Given the description of an element on the screen output the (x, y) to click on. 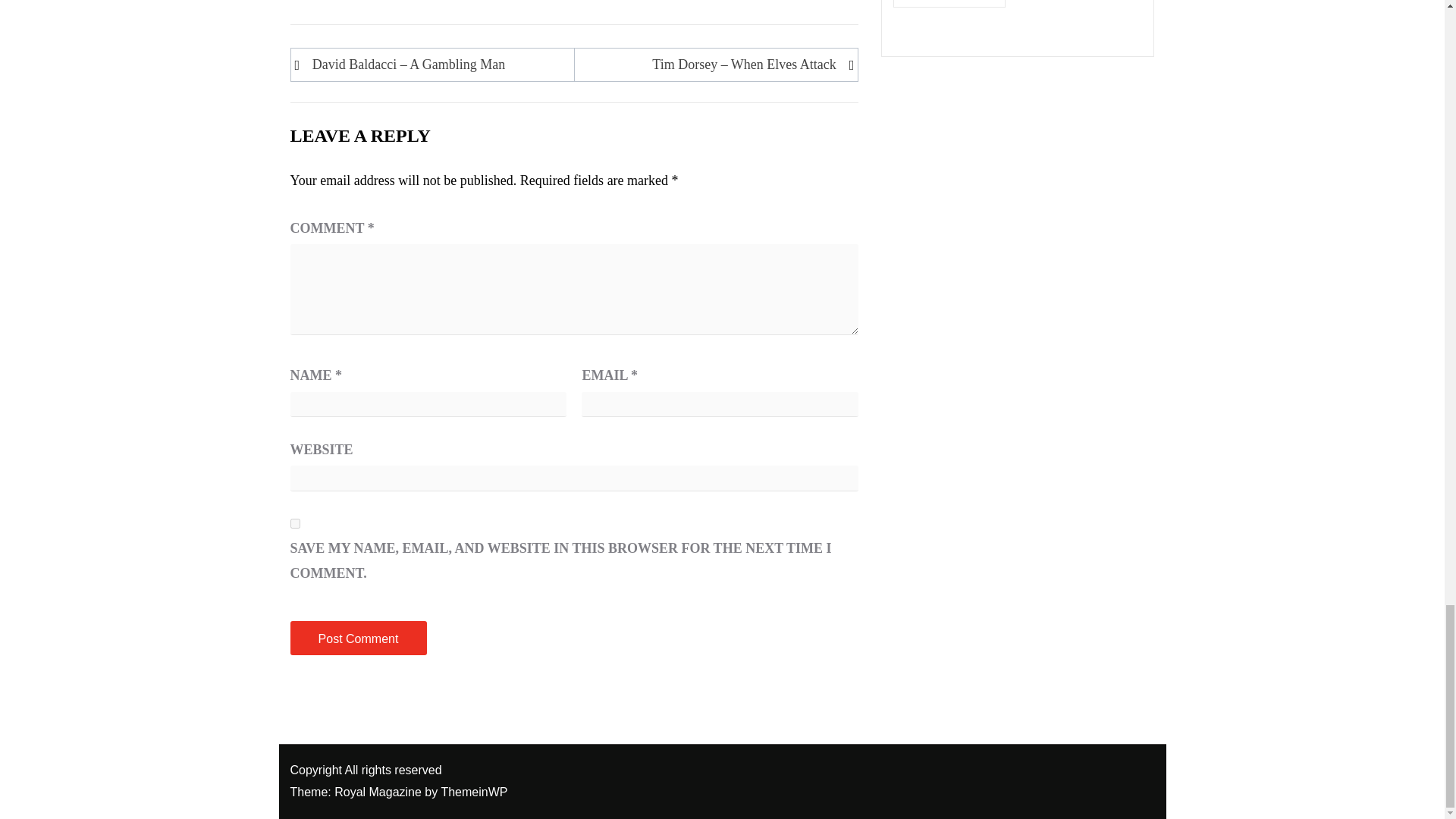
Post Comment (357, 637)
yes (294, 523)
Post Comment (357, 637)
